Given the description of an element on the screen output the (x, y) to click on. 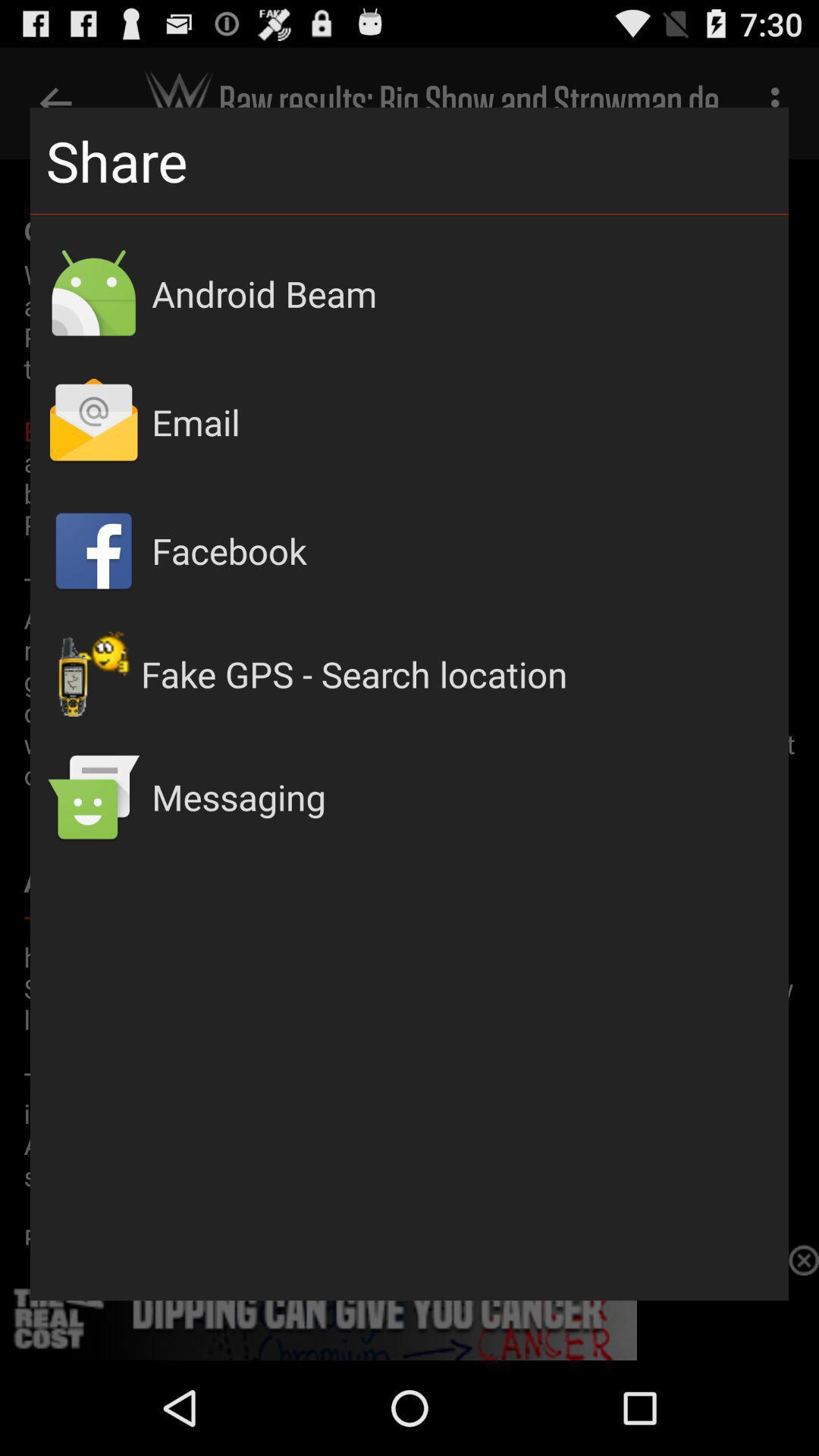
launch the messaging item (461, 796)
